Given the description of an element on the screen output the (x, y) to click on. 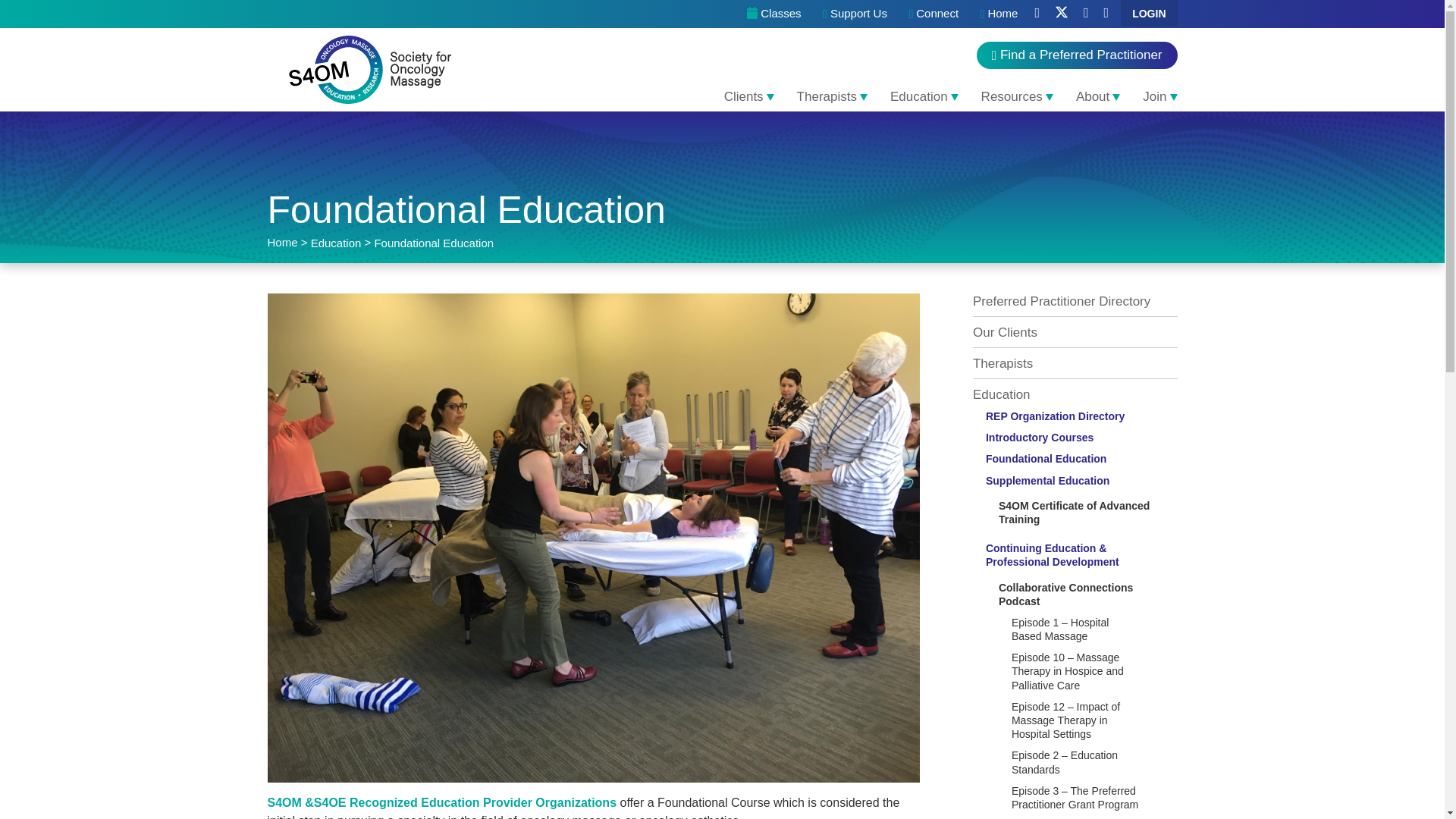
Resources (1016, 96)
Go to S4OM. (281, 241)
Go to Education. (336, 242)
Support Us (854, 13)
Classes (773, 13)
Find a Preferred Practitioner (1076, 54)
LOGIN (1148, 13)
Therapists (832, 96)
Home (999, 13)
Connect (933, 13)
Education (924, 96)
Clients (749, 96)
